Given the description of an element on the screen output the (x, y) to click on. 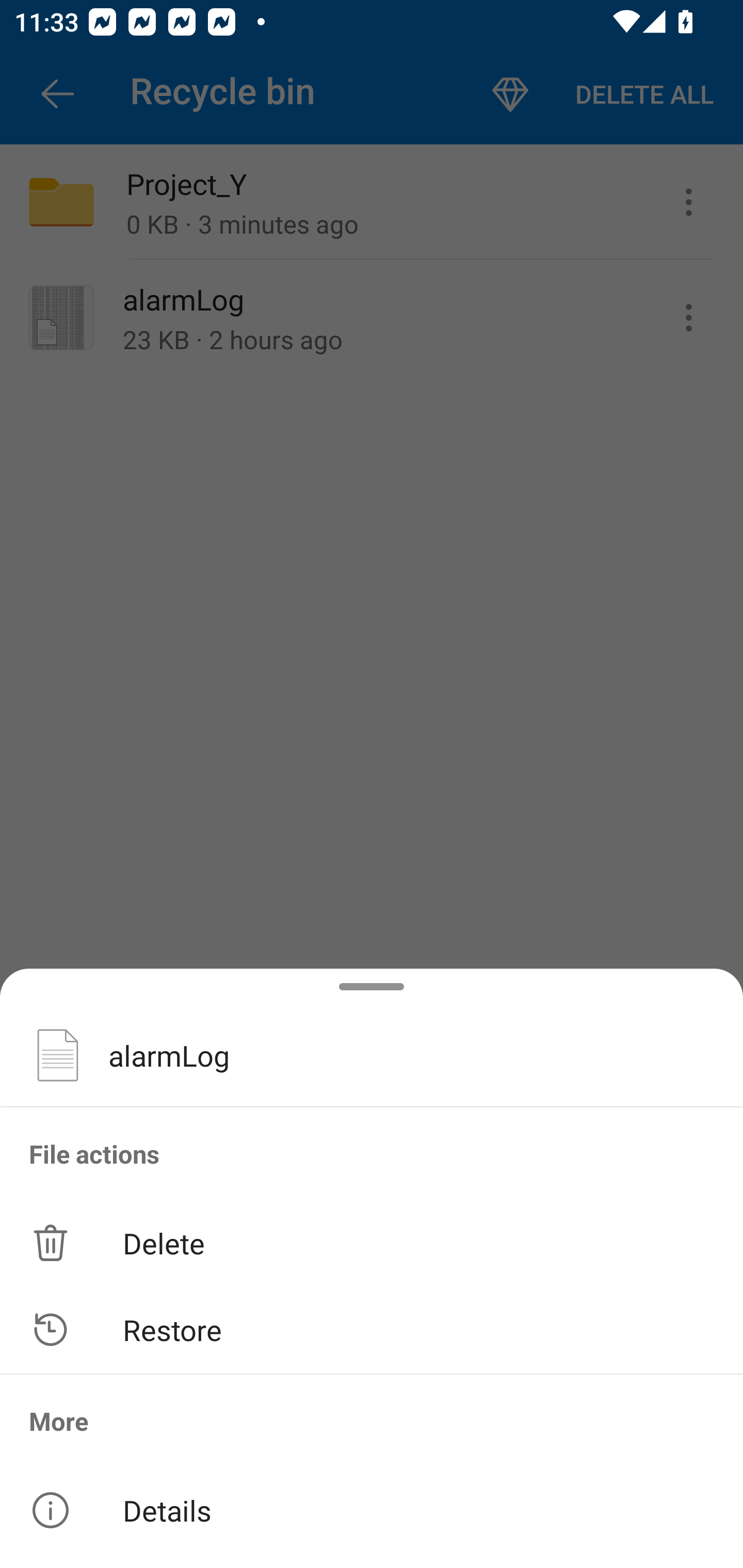
Delete button Delete (371, 1242)
Restore button Restore (371, 1329)
Details button Details (371, 1510)
